Given the description of an element on the screen output the (x, y) to click on. 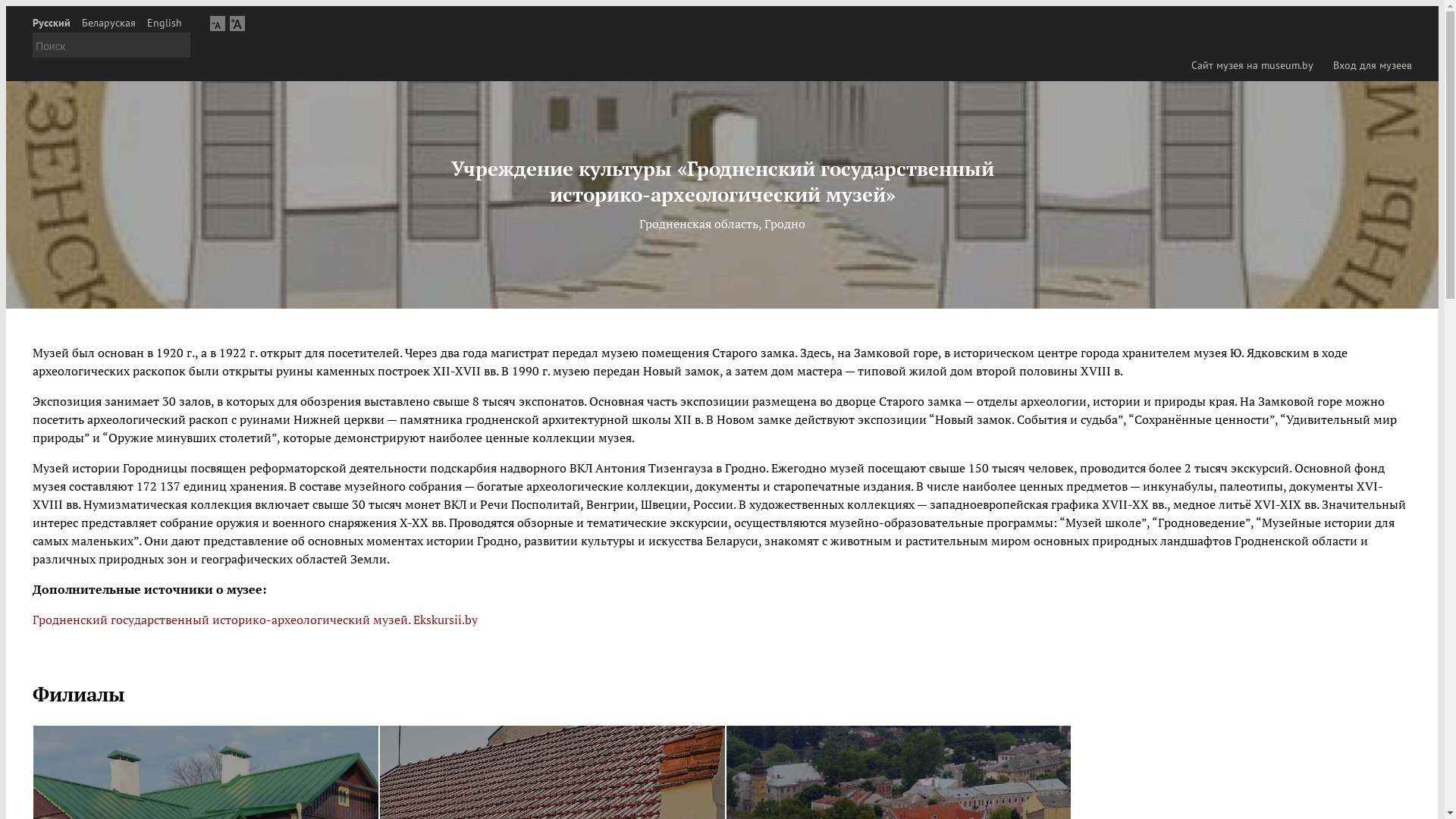
A Element type: text (217, 22)
A Element type: text (236, 22)
English Element type: text (164, 23)
